Given the description of an element on the screen output the (x, y) to click on. 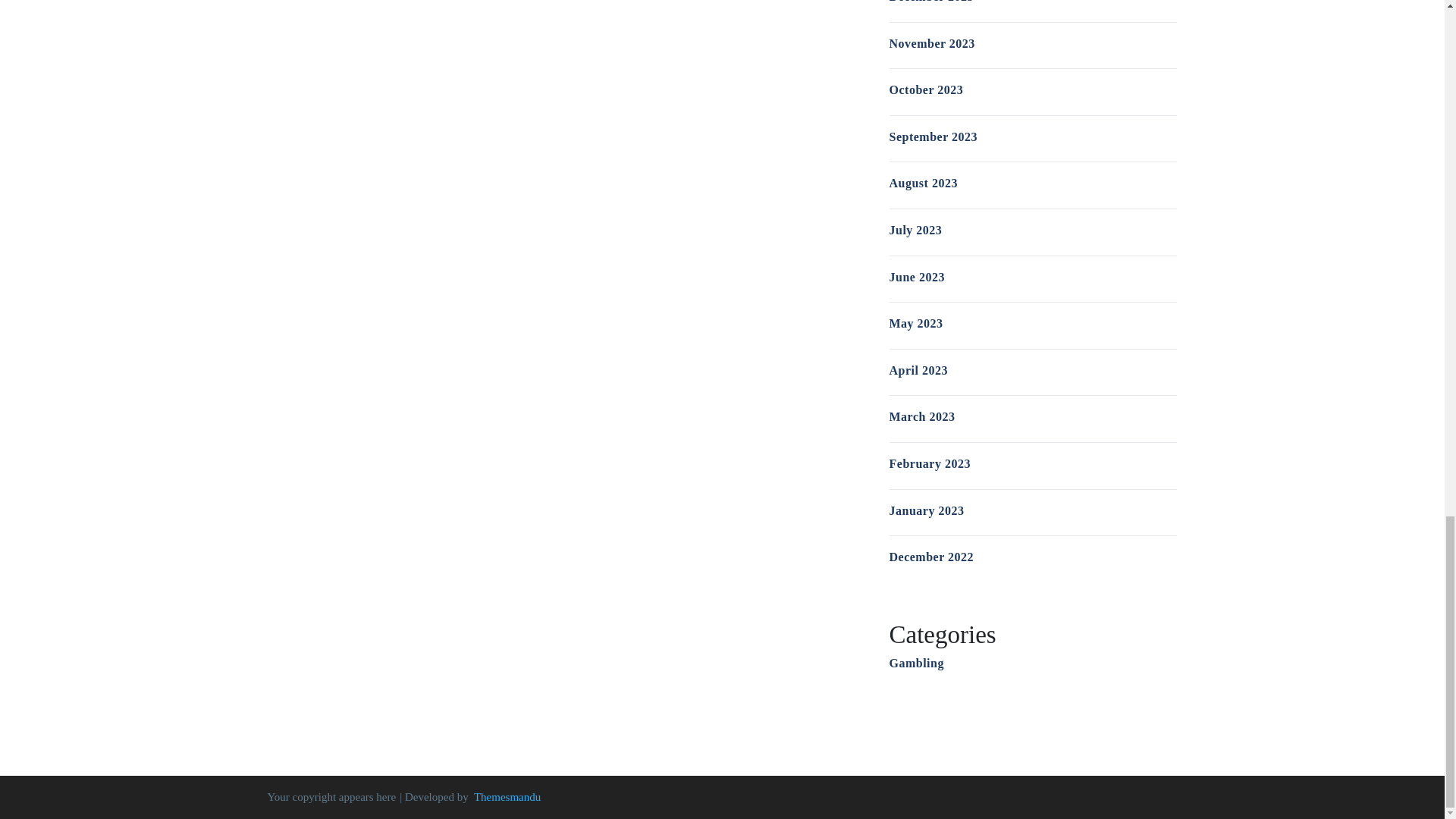
January 2023 (925, 510)
July 2023 (915, 229)
Themesmandu (507, 797)
October 2023 (925, 89)
November 2023 (931, 42)
December 2023 (931, 1)
December 2022 (931, 556)
February 2023 (928, 463)
September 2023 (932, 136)
May 2023 (915, 323)
